Given the description of an element on the screen output the (x, y) to click on. 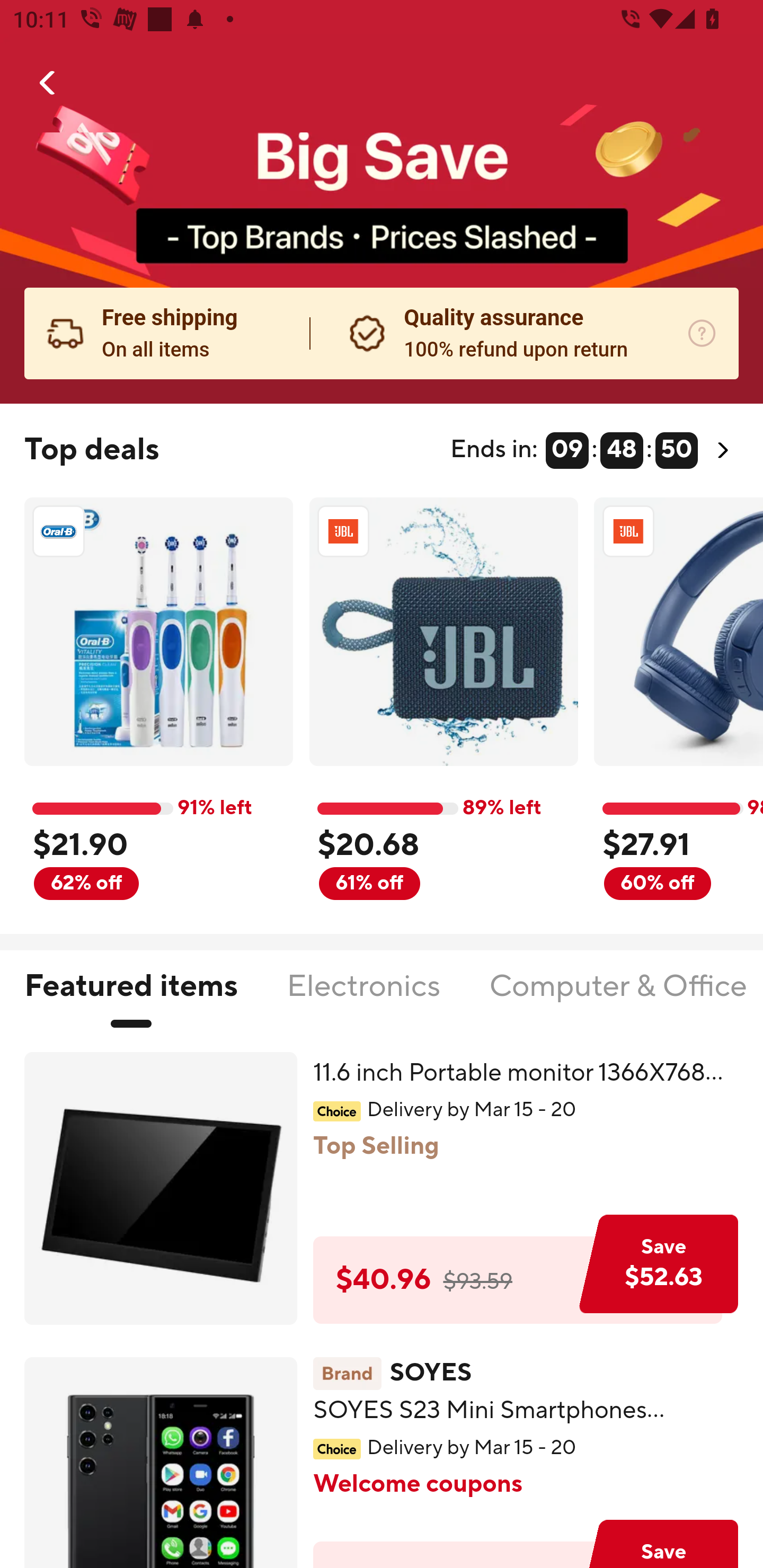
 (48, 82)
Featured items (130, 996)
Electronics (363, 996)
Computer & Office (617, 996)
